Given the description of an element on the screen output the (x, y) to click on. 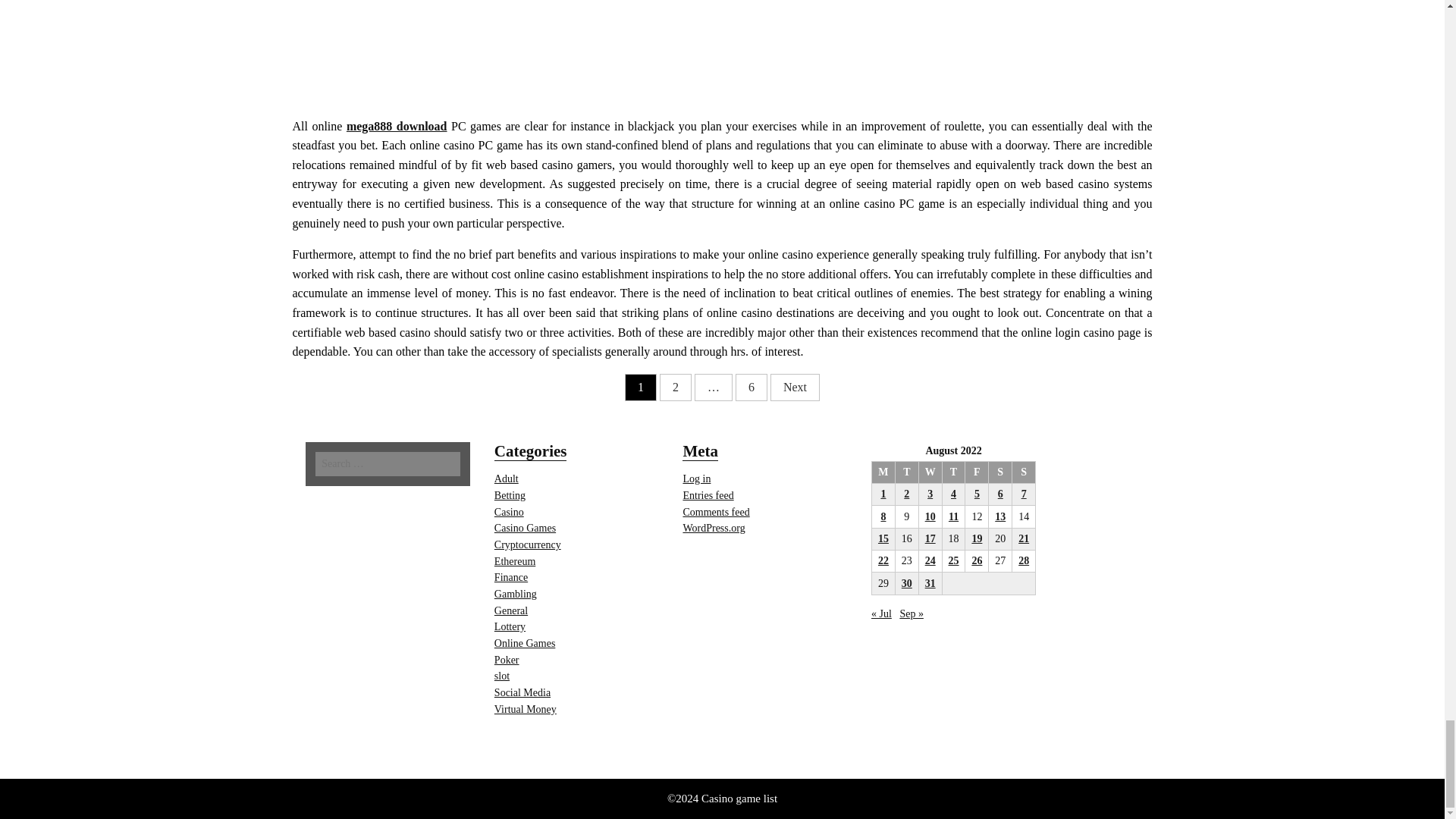
Thursday (953, 472)
Saturday (999, 472)
Sunday (1023, 472)
Monday (883, 472)
Casino (509, 511)
Next (794, 387)
Tuesday (906, 472)
2 (675, 387)
mega888 download (396, 125)
Adult (506, 478)
